Given the description of an element on the screen output the (x, y) to click on. 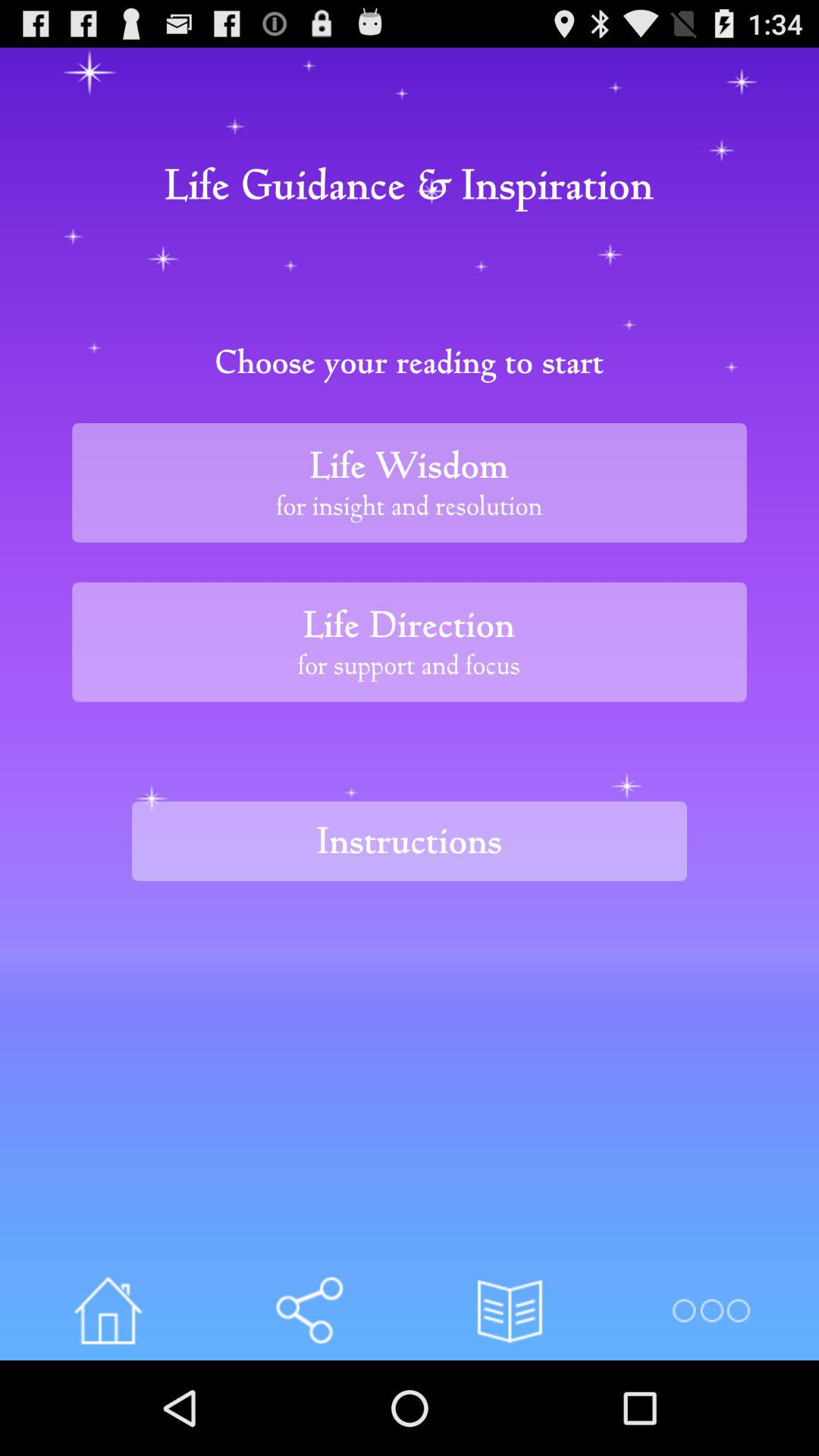
select your home page (107, 1310)
